Given the description of an element on the screen output the (x, y) to click on. 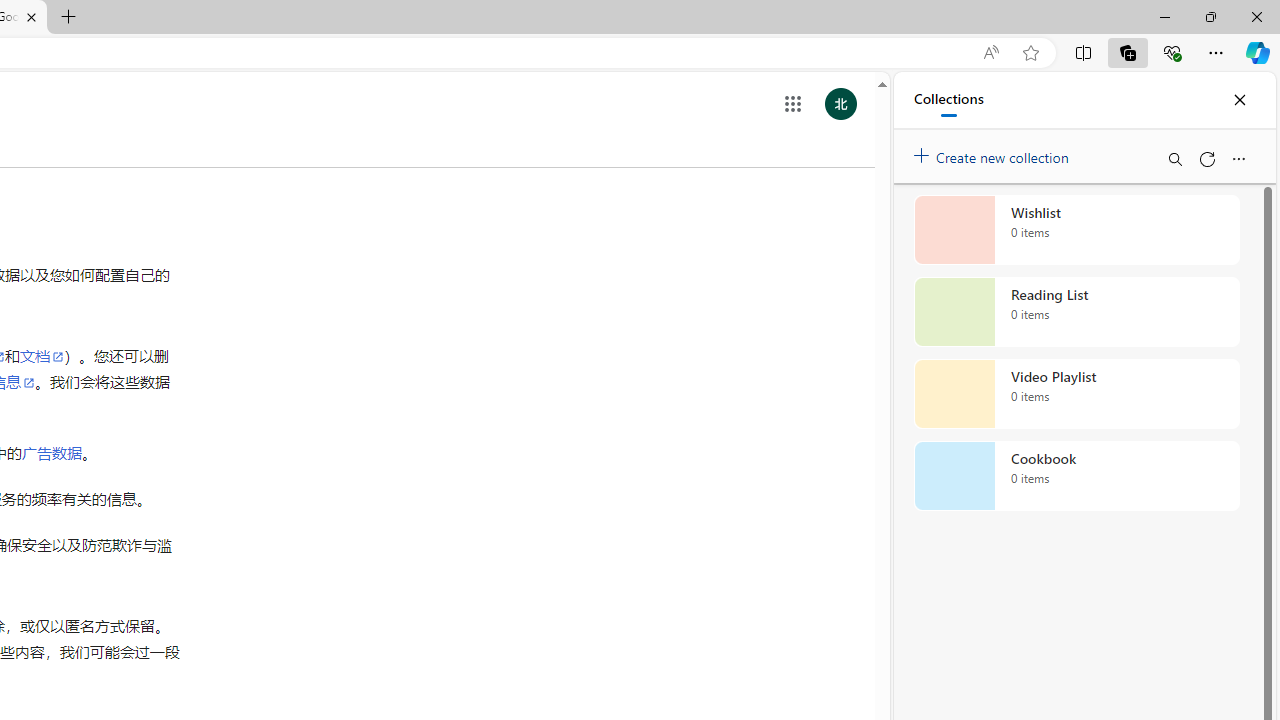
Video Playlist collection, 0 items (1076, 394)
